Given the description of an element on the screen output the (x, y) to click on. 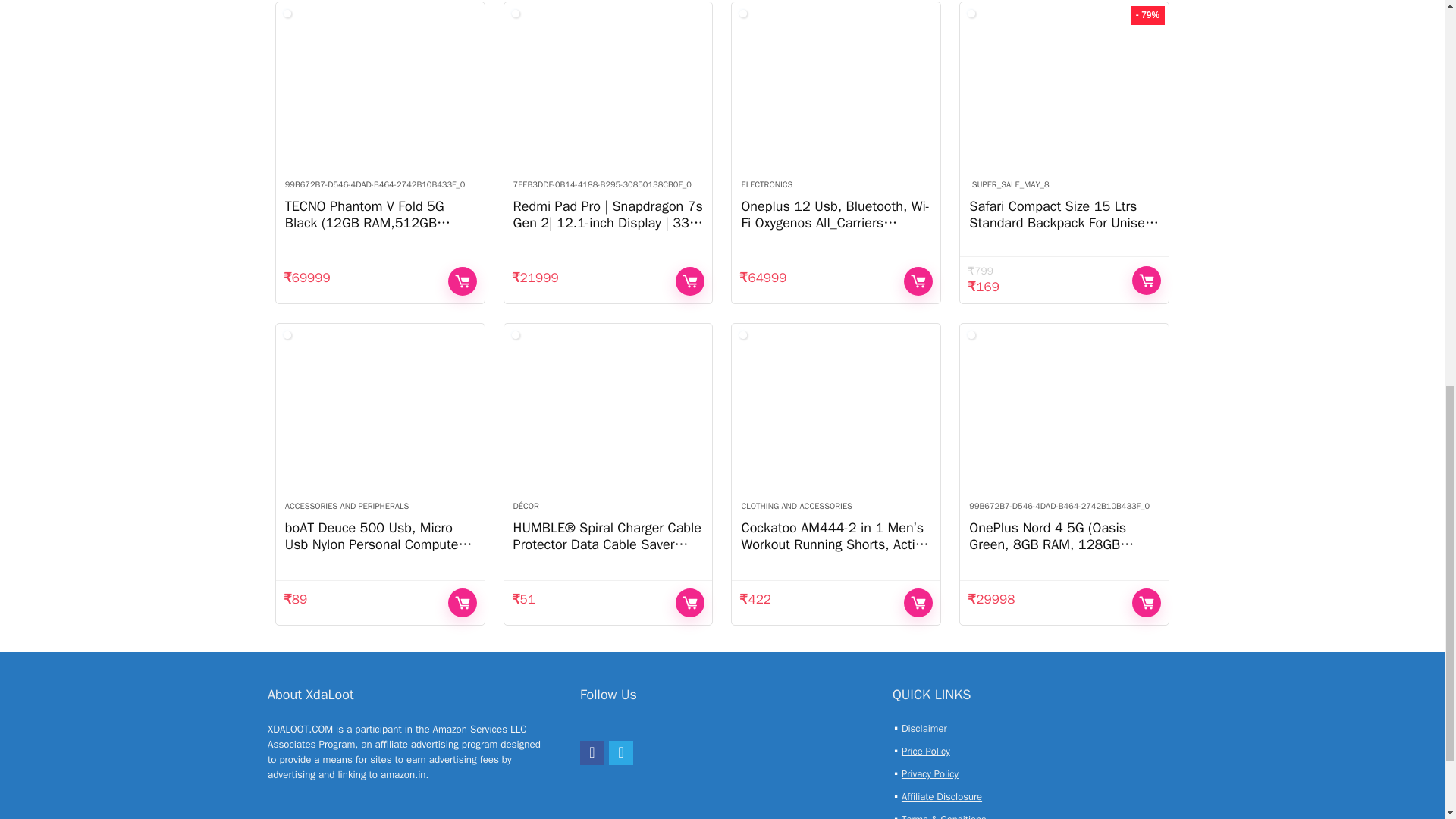
SHOP NOW AT AMAZON.IN (918, 280)
SHOP NOW AT AMAZON.IN (462, 280)
SHOP NOW AT AMAZON.IN (689, 280)
ELECTRONICS (766, 184)
